Given the description of an element on the screen output the (x, y) to click on. 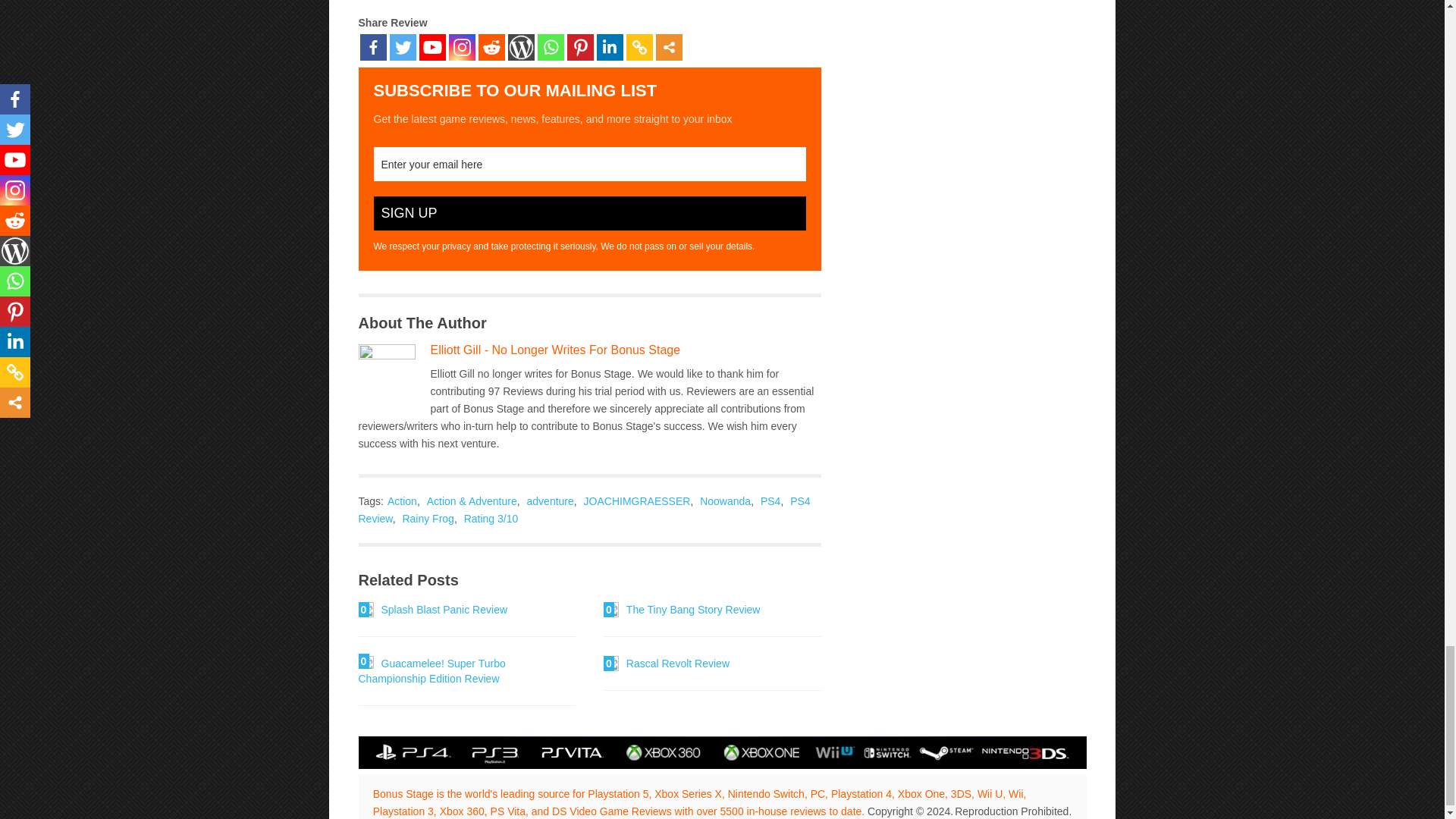
Sign Up (588, 213)
